Given the description of an element on the screen output the (x, y) to click on. 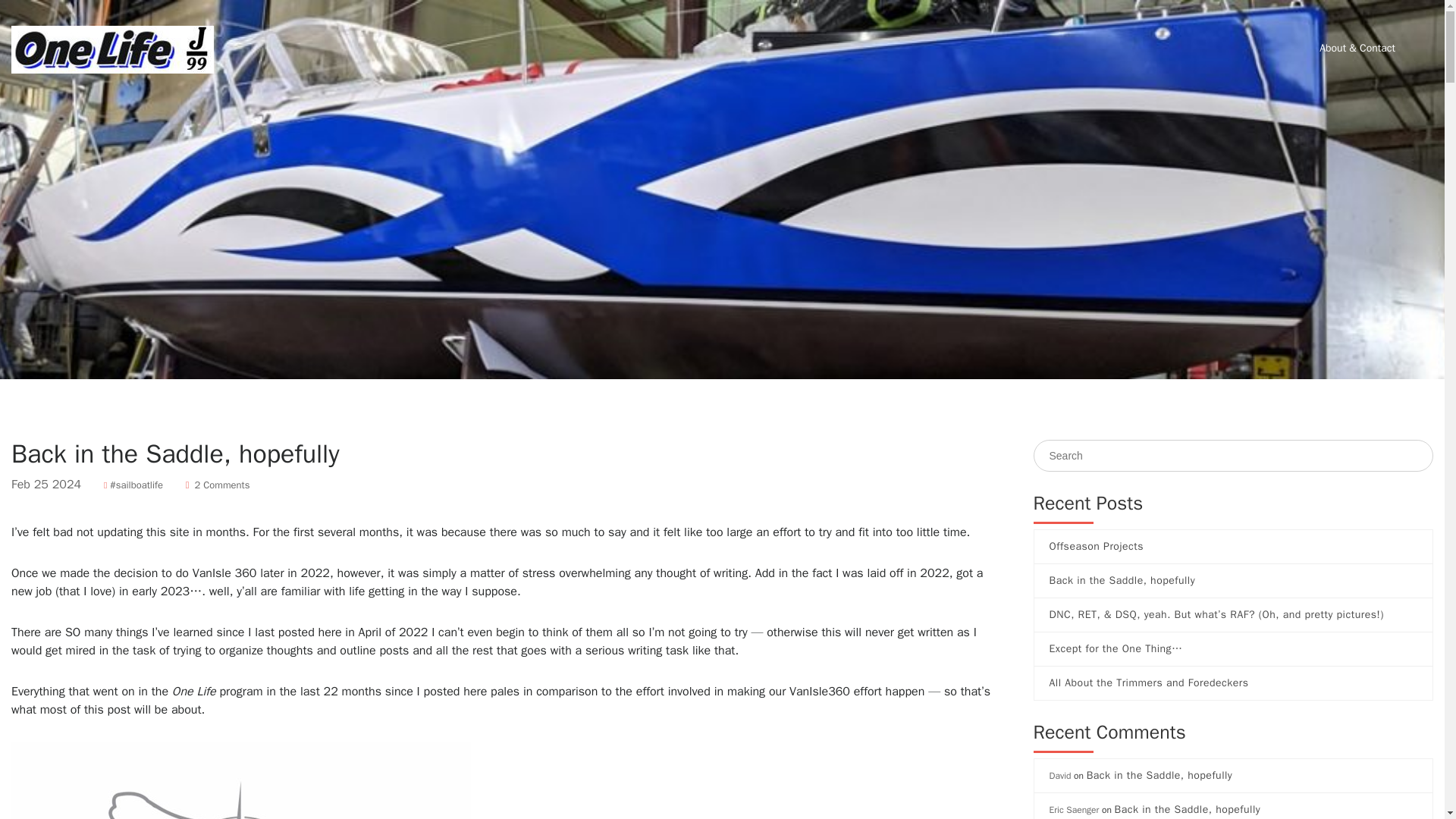
2 Comments (218, 484)
Back in the Saddle, hopefully (1159, 774)
Offseason Projects (1233, 546)
Feb 25 2024 (55, 484)
Back in the Saddle, hopefully (1187, 809)
Back in the Saddle, hopefully (1233, 580)
All About the Trimmers and Foredeckers (1233, 683)
